Given the description of an element on the screen output the (x, y) to click on. 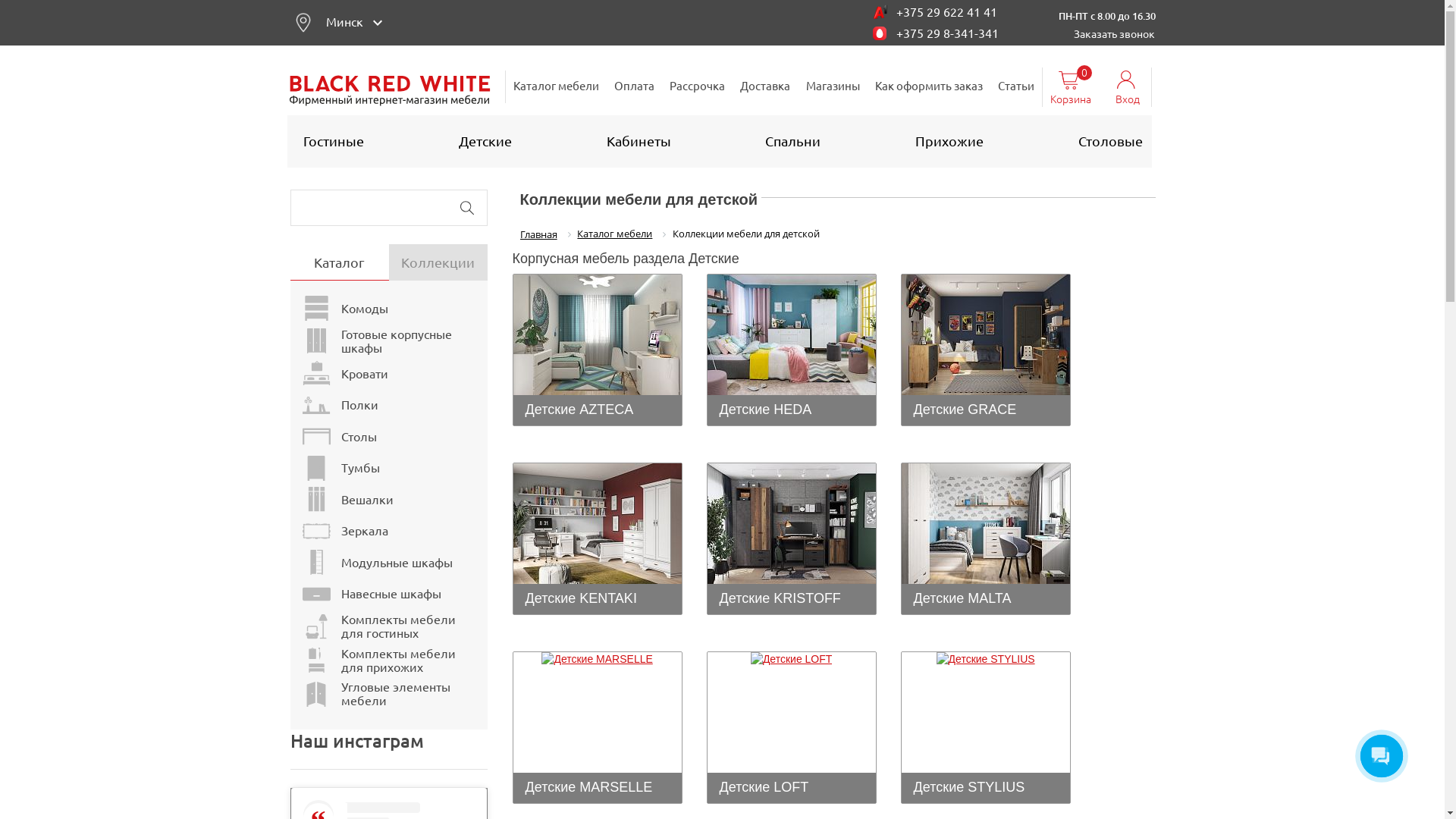
+375 29 8-341-341 Element type: text (947, 33)
+375 29 622 41 41 Element type: text (946, 11)
